Given the description of an element on the screen output the (x, y) to click on. 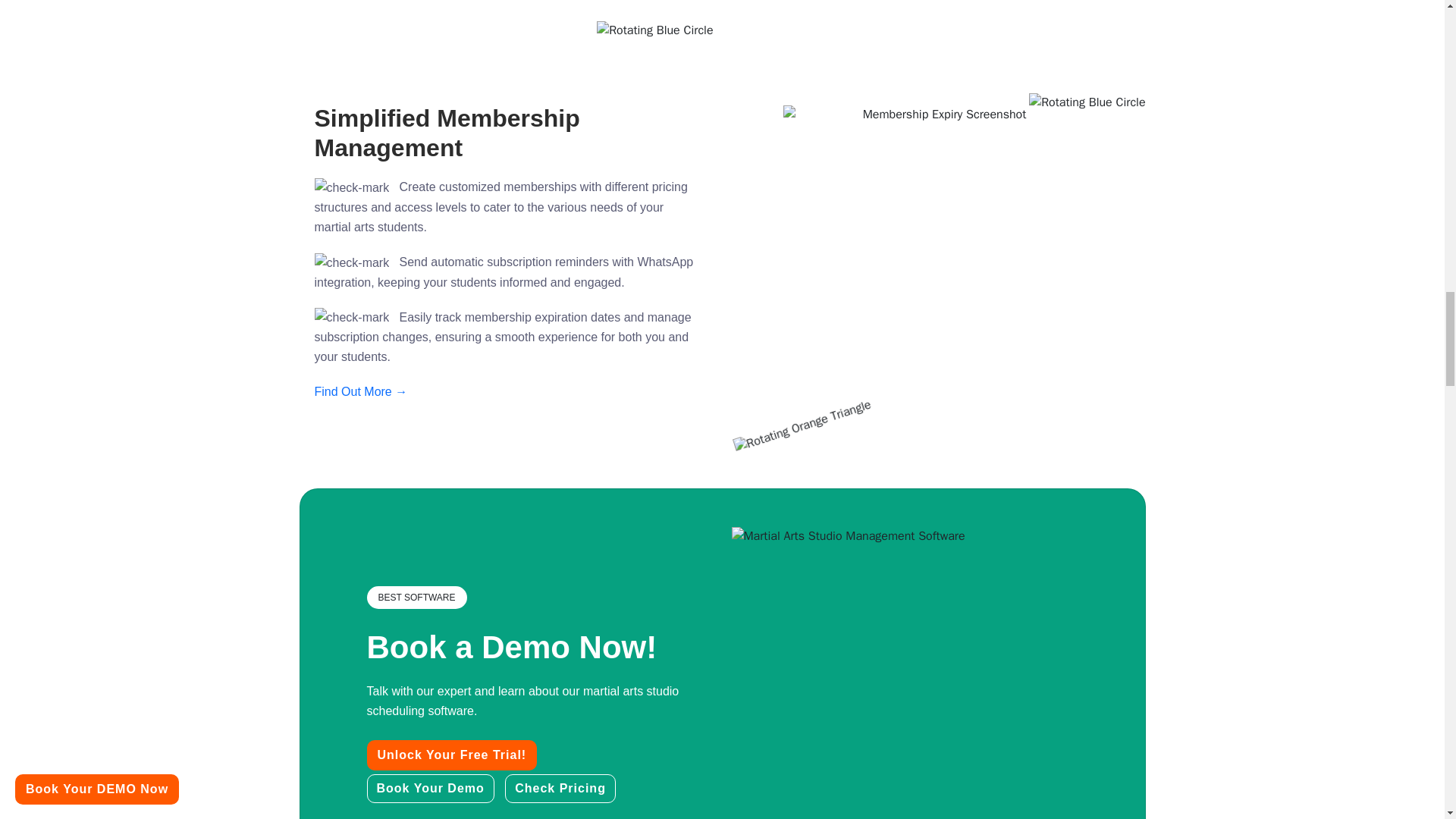
Book Your Demo (430, 788)
Check Pricing (560, 788)
